Given the description of an element on the screen output the (x, y) to click on. 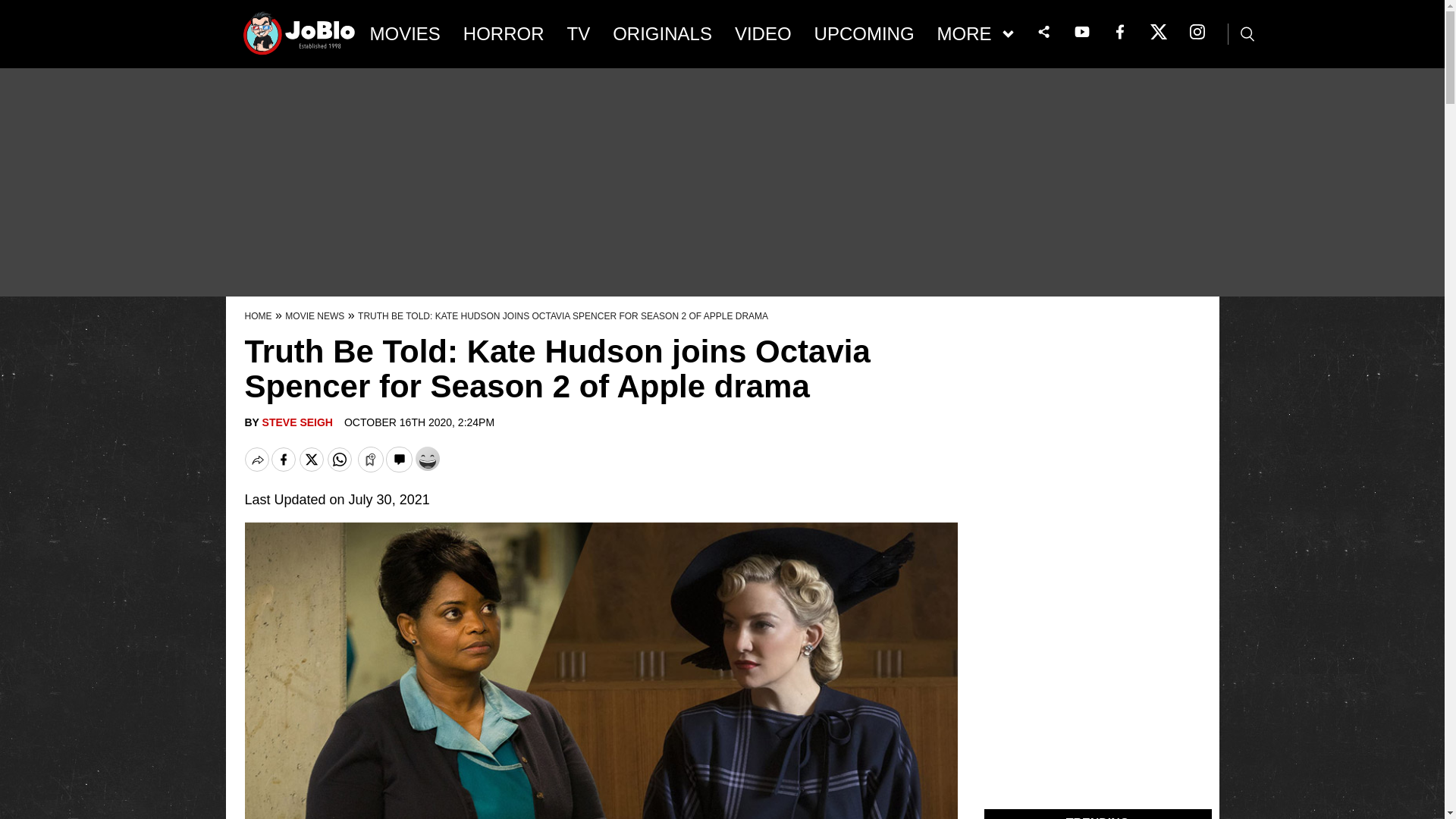
TV (578, 34)
MOVIES (405, 34)
MORE (976, 34)
ORIGINALS (662, 34)
HORROR (503, 34)
UPCOMING (863, 34)
Go (13, 7)
VIDEO (762, 34)
JoBlo Logo (299, 38)
